Given the description of an element on the screen output the (x, y) to click on. 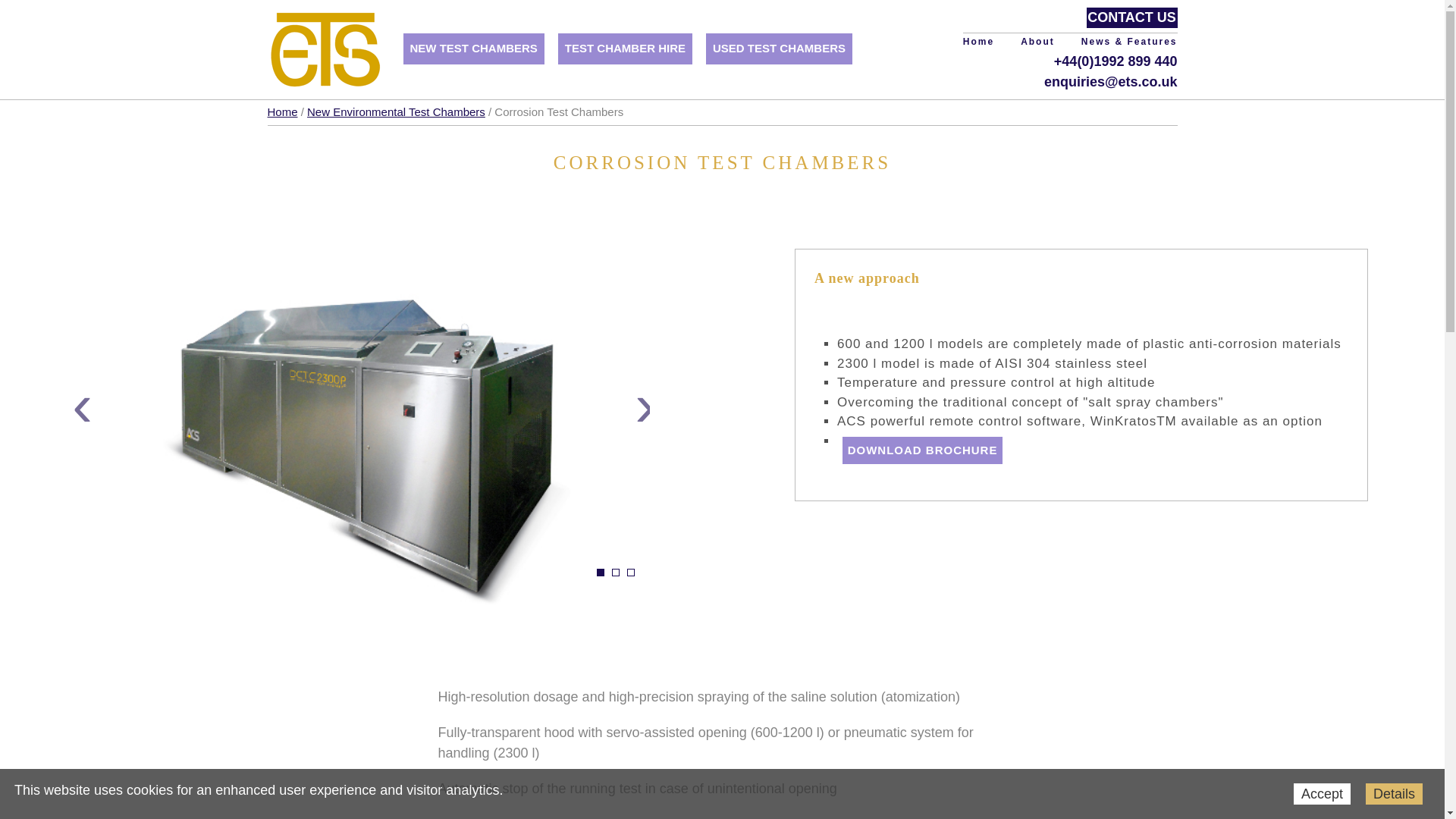
New Environmental Test Chambers (395, 111)
previous (76, 380)
USED TEST CHAMBERS (778, 48)
About (1037, 40)
Home (281, 111)
Home (978, 40)
NEW TEST CHAMBERS (473, 48)
DOWNLOAD BROCHURE (923, 450)
TEST CHAMBER HIRE (625, 48)
next (640, 380)
CONTACT US (1131, 17)
